Given the description of an element on the screen output the (x, y) to click on. 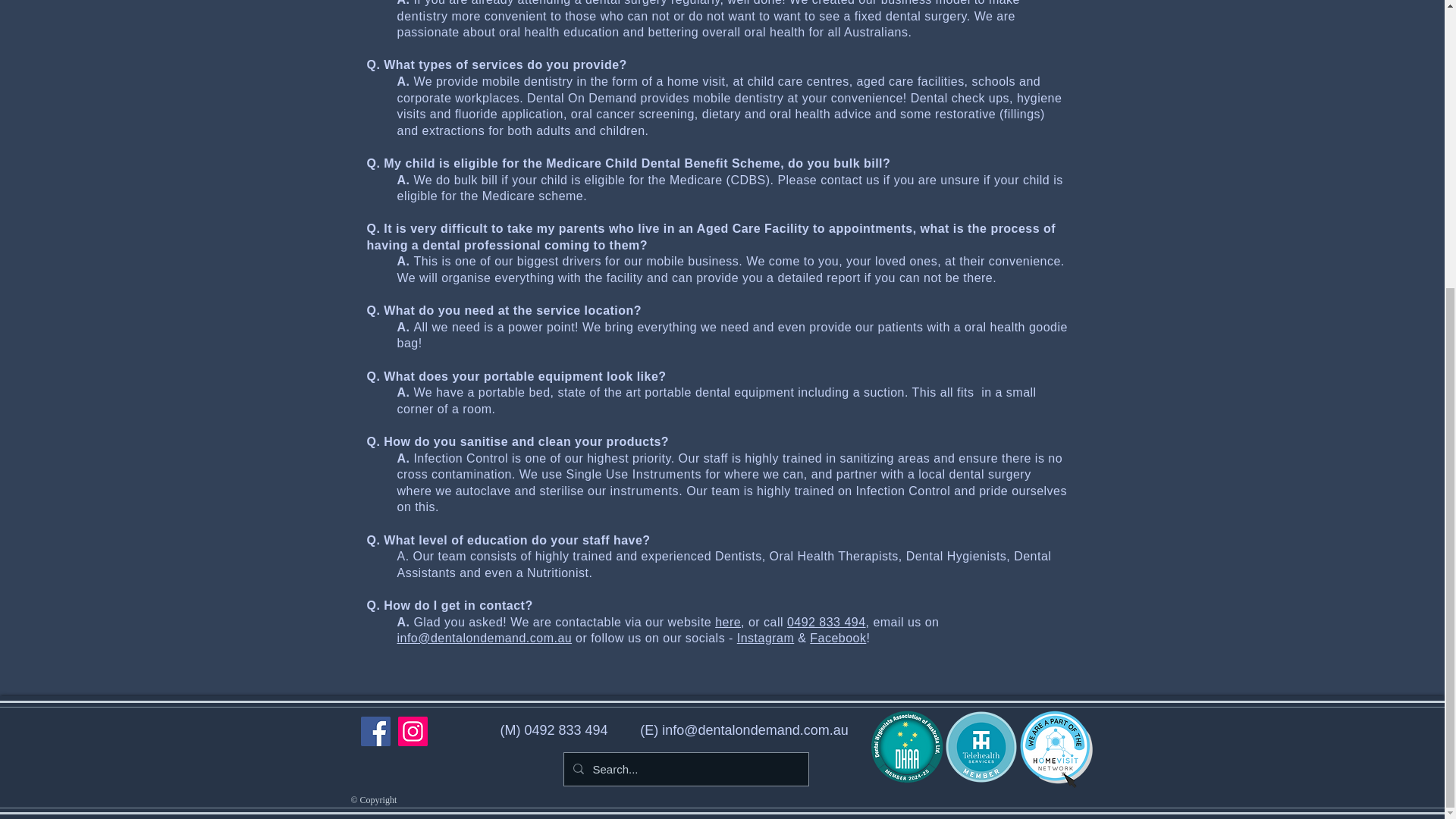
Facebook (837, 637)
here (727, 621)
Instagram (764, 637)
